Given the description of an element on the screen output the (x, y) to click on. 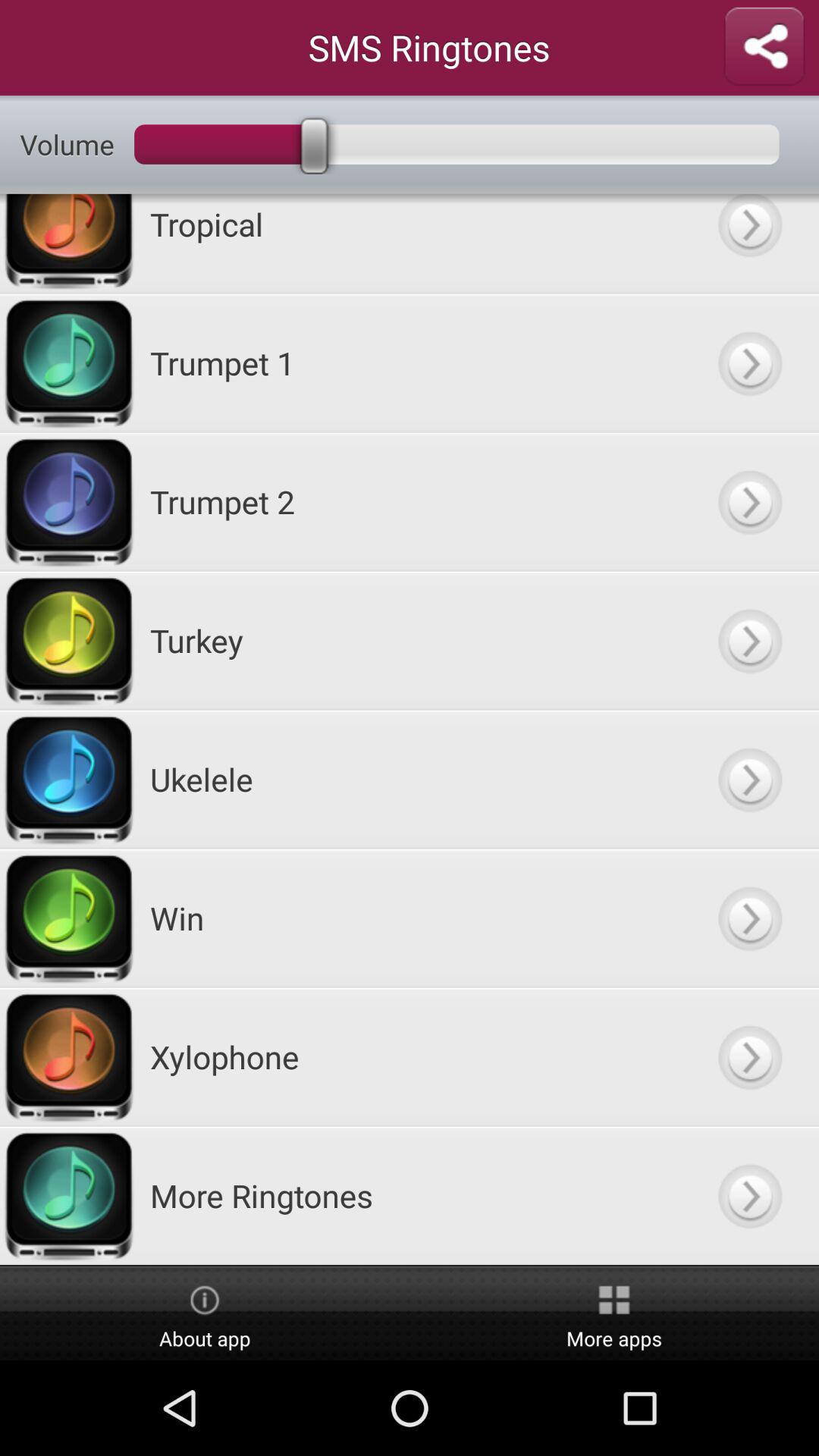
click to the next page (749, 243)
